Given the description of an element on the screen output the (x, y) to click on. 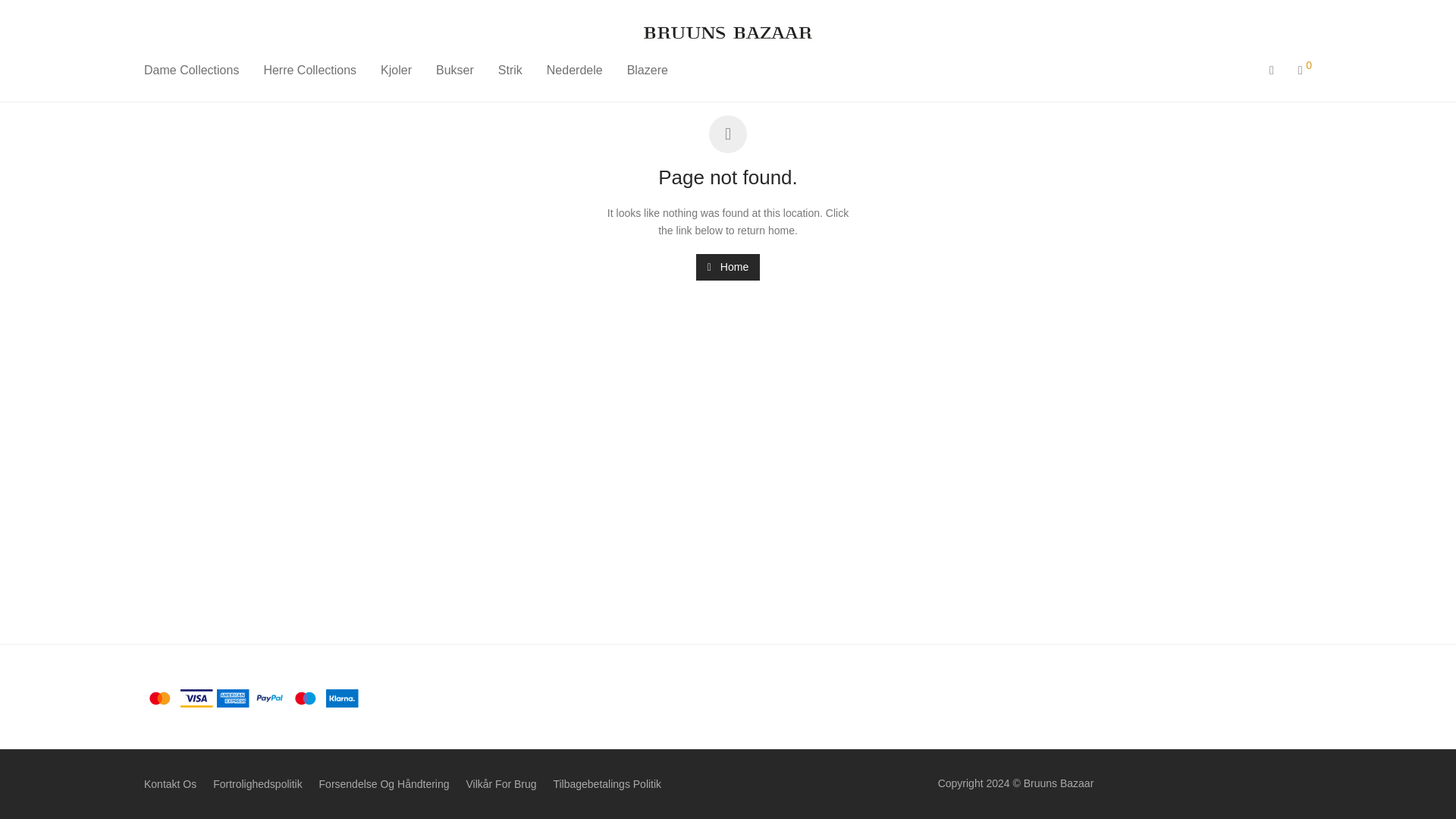
Nederdele (574, 70)
Fortrolighedspolitik (257, 784)
Dame Collections (191, 70)
Herre Collections (309, 70)
Blazere (646, 70)
0 (1304, 70)
Bukser (454, 70)
Home (727, 266)
Tilbagebetalings Politik (607, 784)
Kjoler (395, 70)
